Given the description of an element on the screen output the (x, y) to click on. 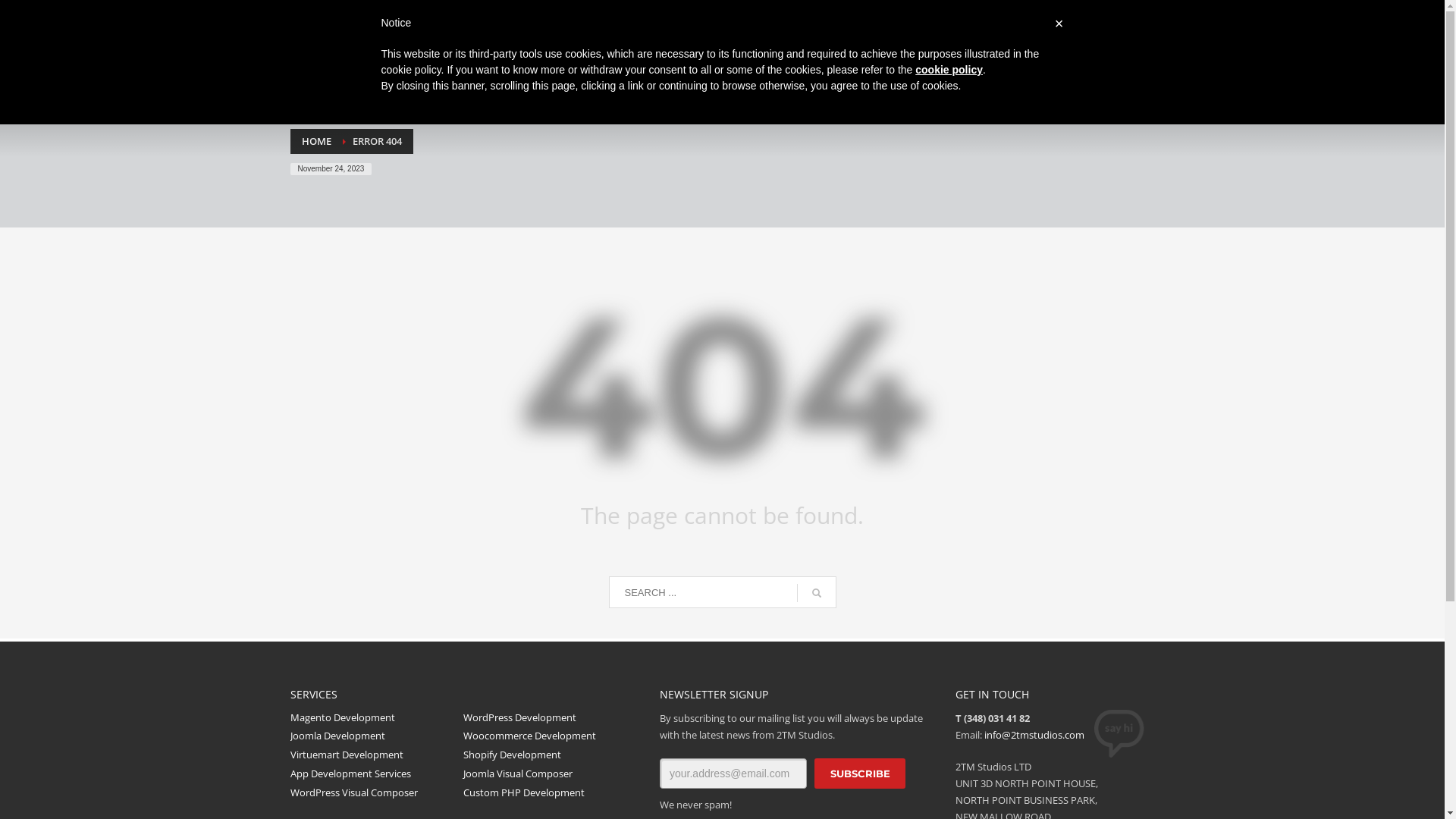
Shopify Development Element type: text (550, 754)
SERVICES Element type: text (631, 65)
Woocommerce Development Element type: text (550, 735)
Custom PHP Development Element type: text (550, 792)
WordPress Visual Composer Element type: text (376, 792)
E-COMMERCE Element type: text (988, 65)
SOLUTIONS Element type: text (551, 65)
HOSTING Element type: text (705, 65)
HOME Element type: text (316, 140)
MARKETS Element type: text (901, 65)
SUBSCRIBE Element type: text (859, 773)
Google + Element type: hover (368, 17)
Joomla Visual Composer Element type: text (550, 773)
info@2tmstudios.com Element type: text (1034, 734)
SUPPORT Element type: text (950, 17)
Magento Development Element type: text (376, 717)
Agency Element type: hover (384, 66)
Linked In Element type: hover (346, 17)
Facebook Element type: hover (300, 17)
Twitter Element type: hover (323, 17)
LOGIN Element type: text (901, 17)
Joomla Development Element type: text (376, 735)
GET FREE
QUOTE Element type: text (1118, 67)
WEBSITES Element type: text (824, 65)
APP Element type: text (763, 65)
WordPress Development Element type: text (550, 717)
cookie policy Element type: text (948, 69)
2TM INTERNATIONAL Element type: text (445, 16)
App Development Services Element type: text (376, 773)
Virtuemart Development Element type: text (376, 754)
go Element type: text (1138, 16)
go Element type: text (815, 592)
